Given the description of an element on the screen output the (x, y) to click on. 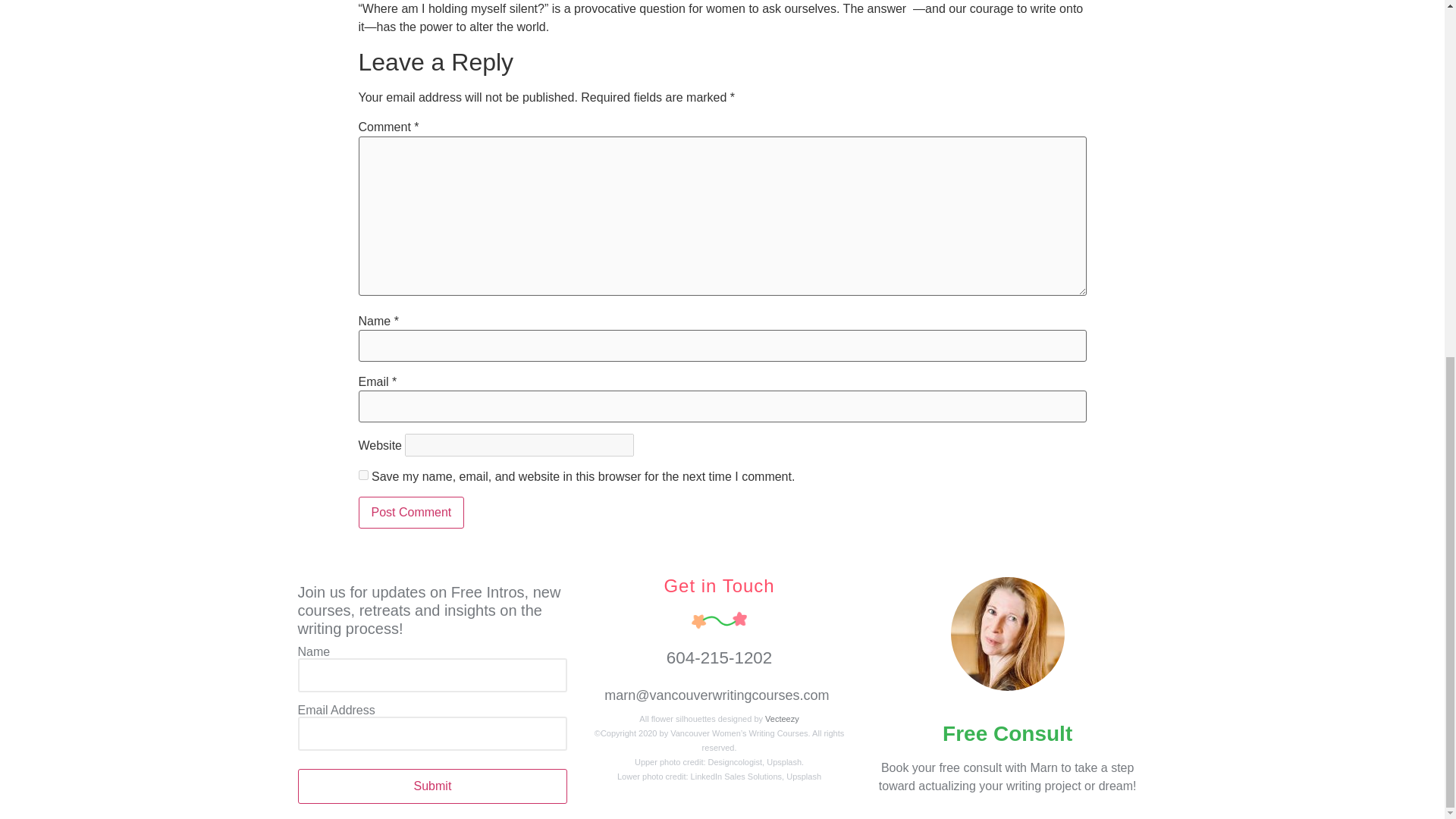
yes (363, 474)
Post Comment (411, 512)
Vecteezy (782, 718)
Post Comment (411, 512)
Free Consult (1006, 733)
Submit (432, 786)
